Given the description of an element on the screen output the (x, y) to click on. 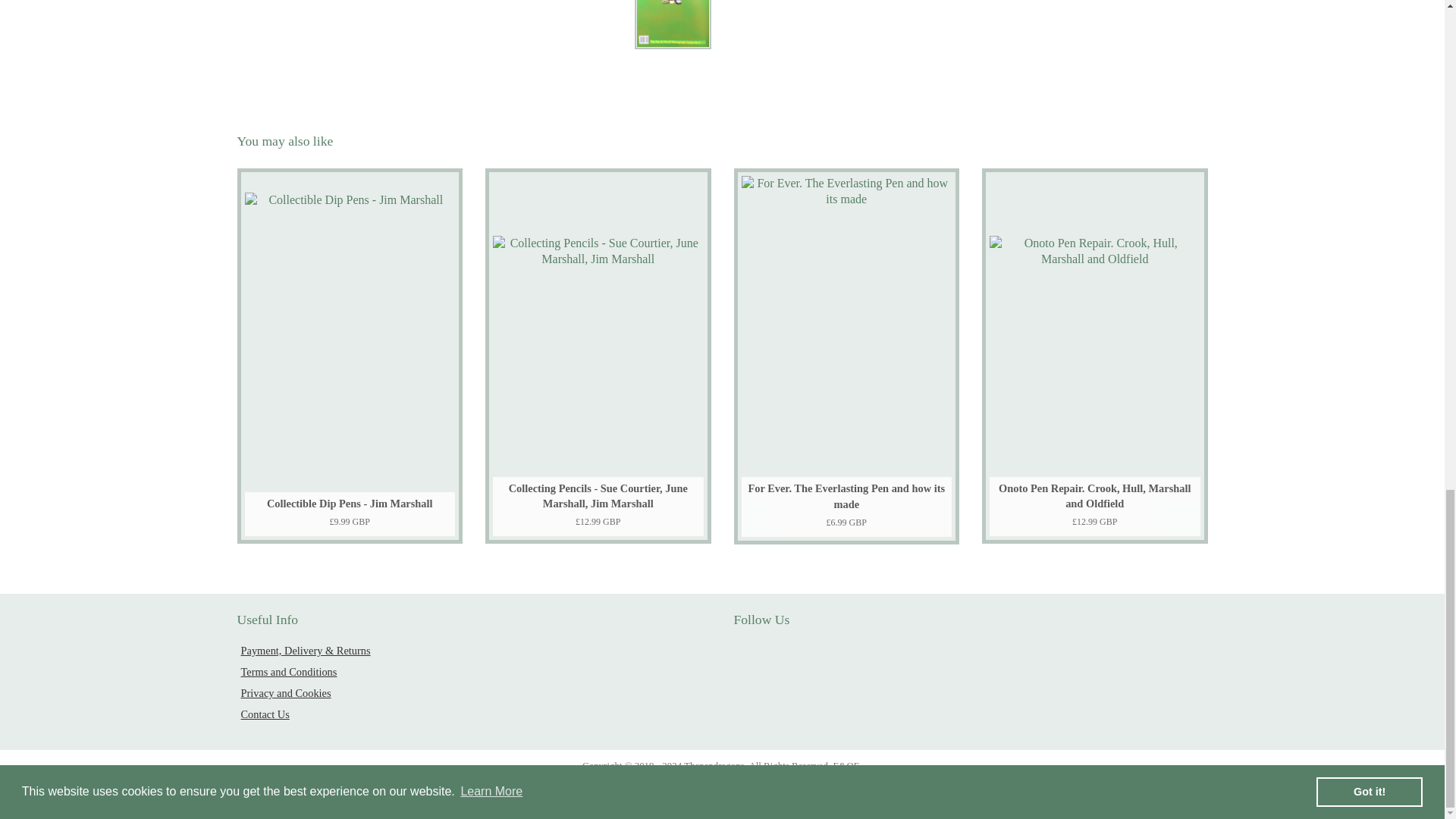
Shop Pay (829, 791)
Visa (915, 791)
Diners Club (571, 791)
Discover (613, 791)
Apple Pay (528, 791)
Mastercard (743, 791)
PayPal (787, 791)
Union Pay (872, 791)
Google Pay (657, 791)
Maestro (699, 791)
